Given the description of an element on the screen output the (x, y) to click on. 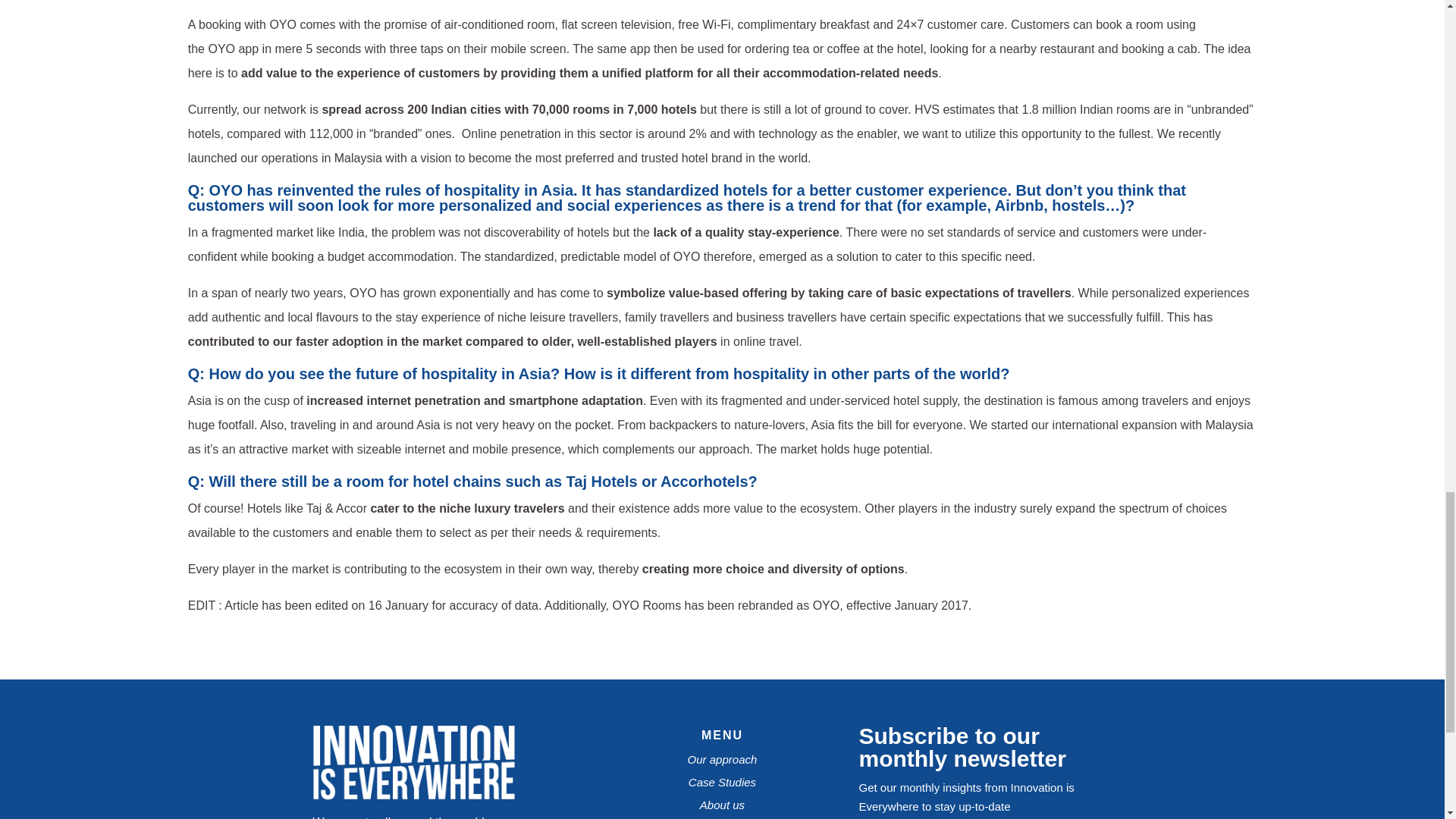
logo-iev-blanc (413, 795)
Our approach (722, 758)
